Given the description of an element on the screen output the (x, y) to click on. 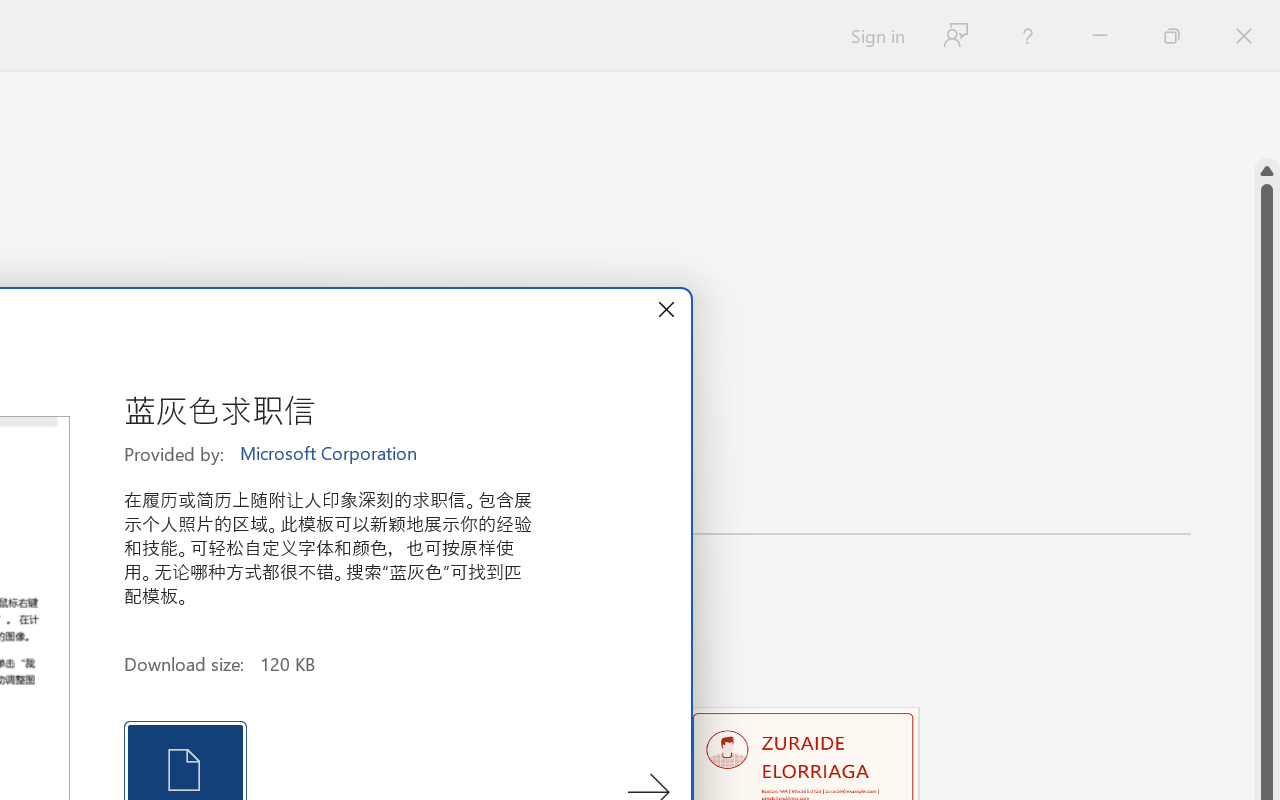
Line up (1267, 171)
Microsoft Corporation (330, 454)
